Given the description of an element on the screen output the (x, y) to click on. 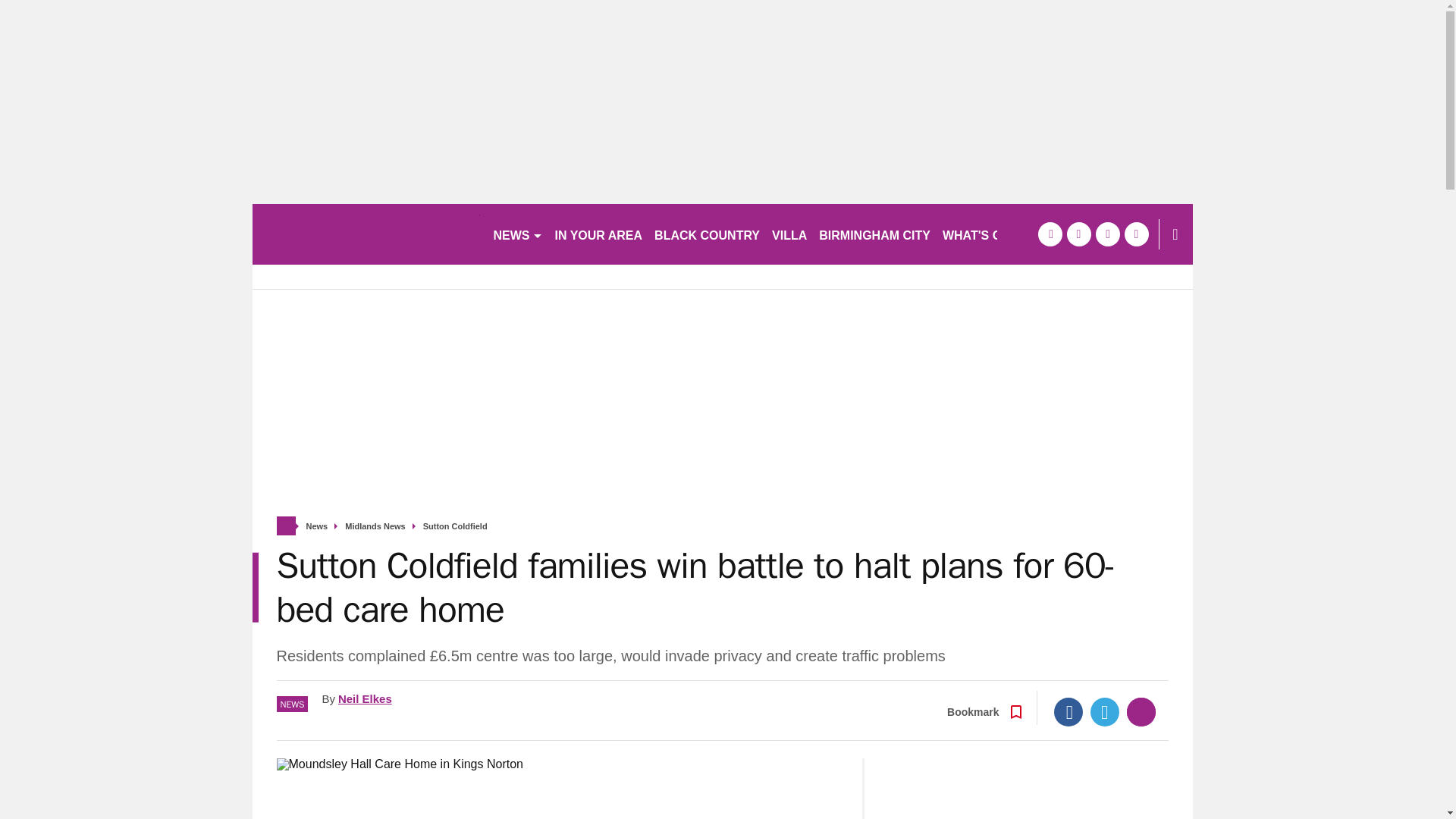
WHAT'S ON (982, 233)
tiktok (1106, 233)
NEWS (517, 233)
Facebook (1068, 711)
facebook (1048, 233)
Twitter (1104, 711)
twitter (1077, 233)
IN YOUR AREA (598, 233)
birminghammail (365, 233)
BIRMINGHAM CITY (874, 233)
BLACK COUNTRY (706, 233)
instagram (1136, 233)
